Given the description of an element on the screen output the (x, y) to click on. 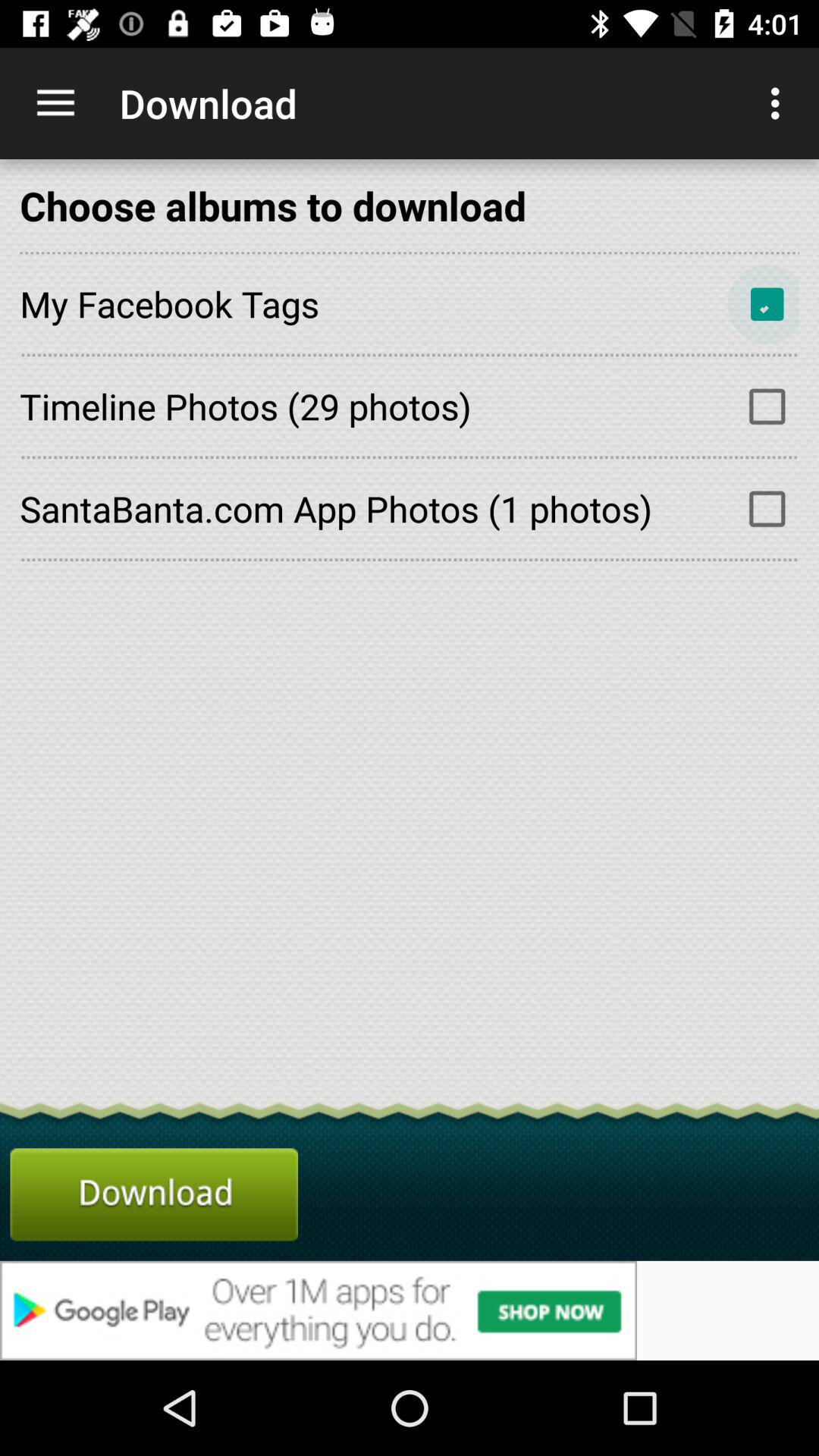
view advertisement (409, 1310)
